Given the description of an element on the screen output the (x, y) to click on. 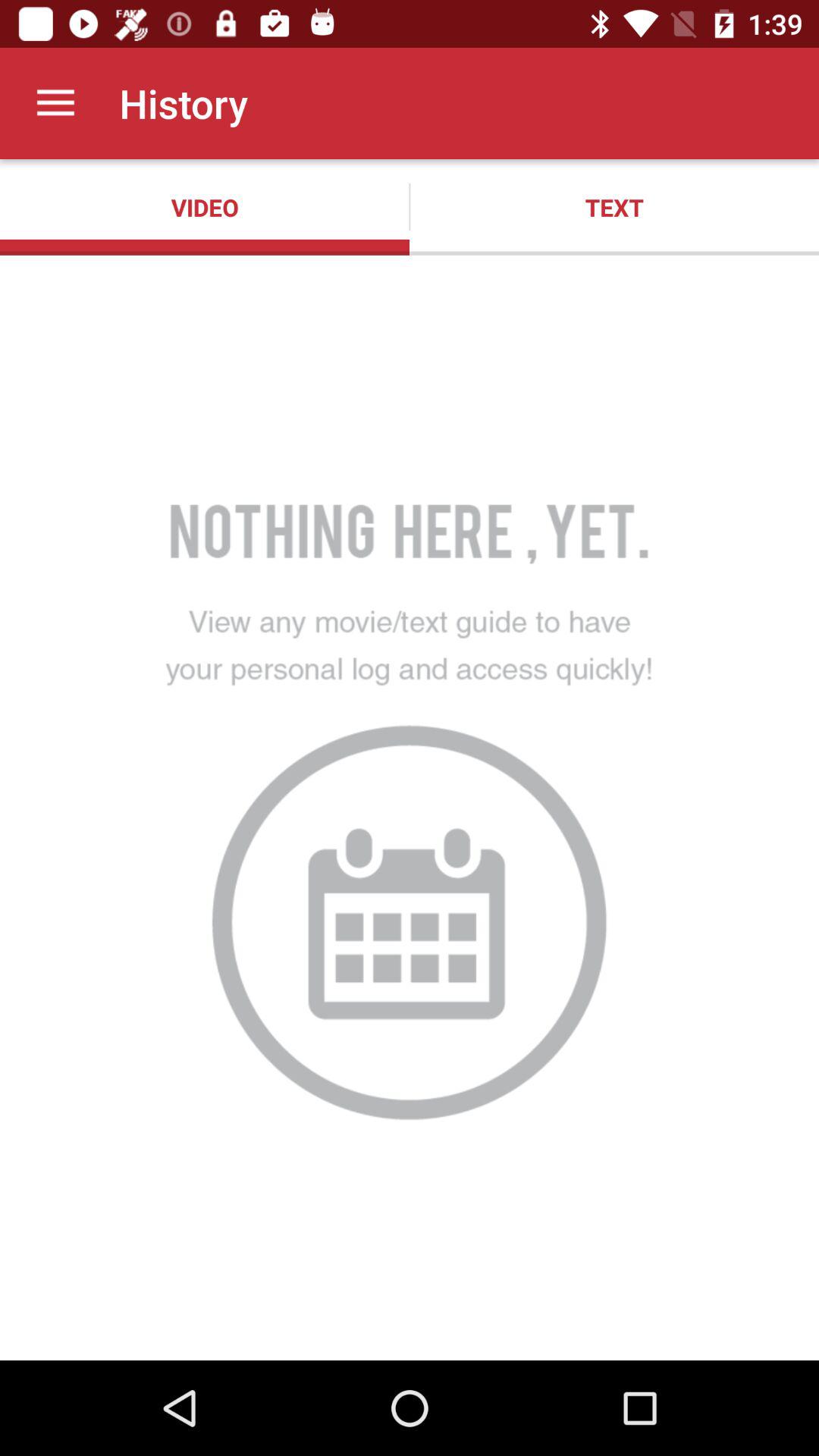
press the video icon (204, 207)
